Given the description of an element on the screen output the (x, y) to click on. 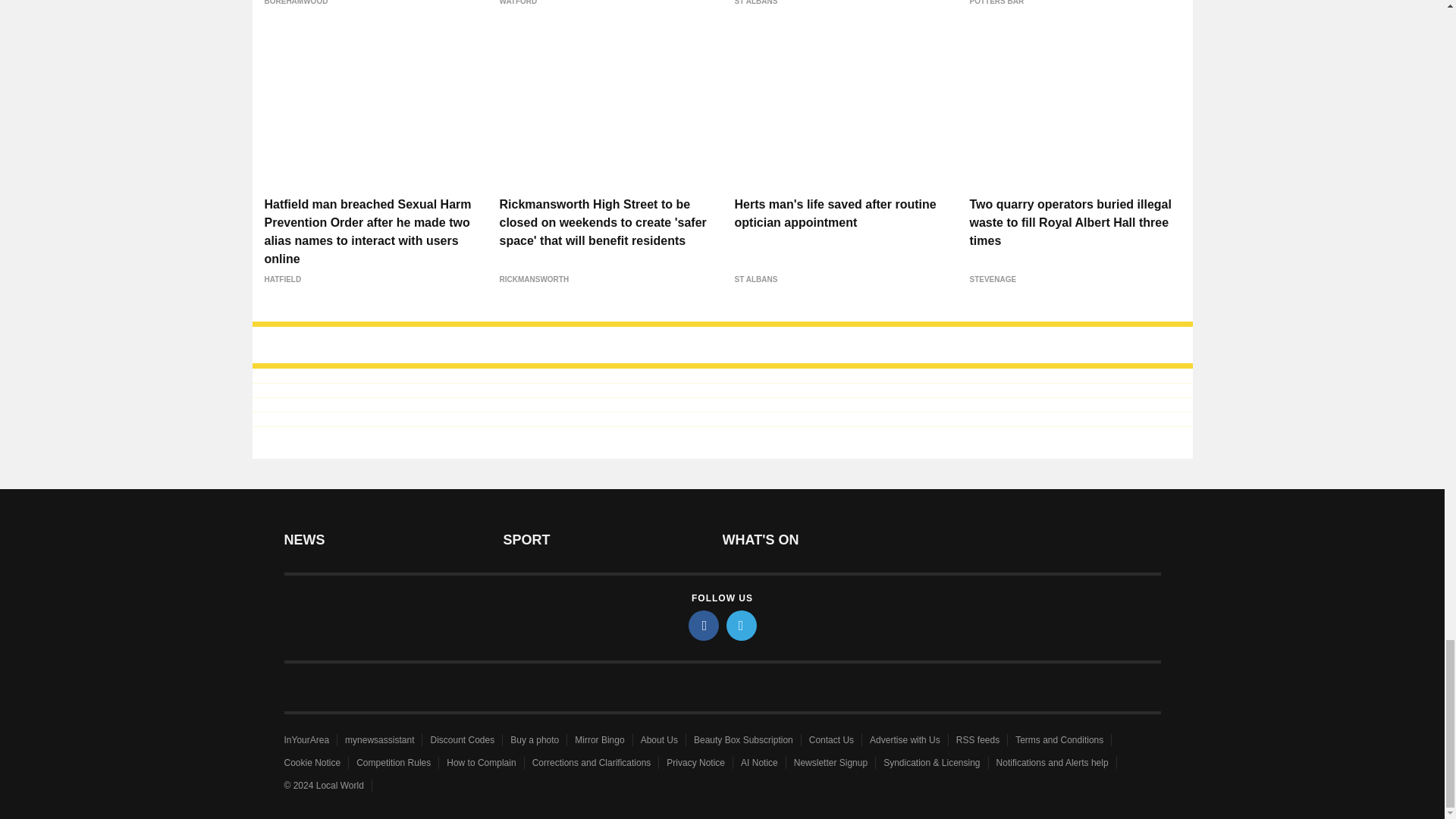
twitter (741, 625)
facebook (703, 625)
